Given the description of an element on the screen output the (x, y) to click on. 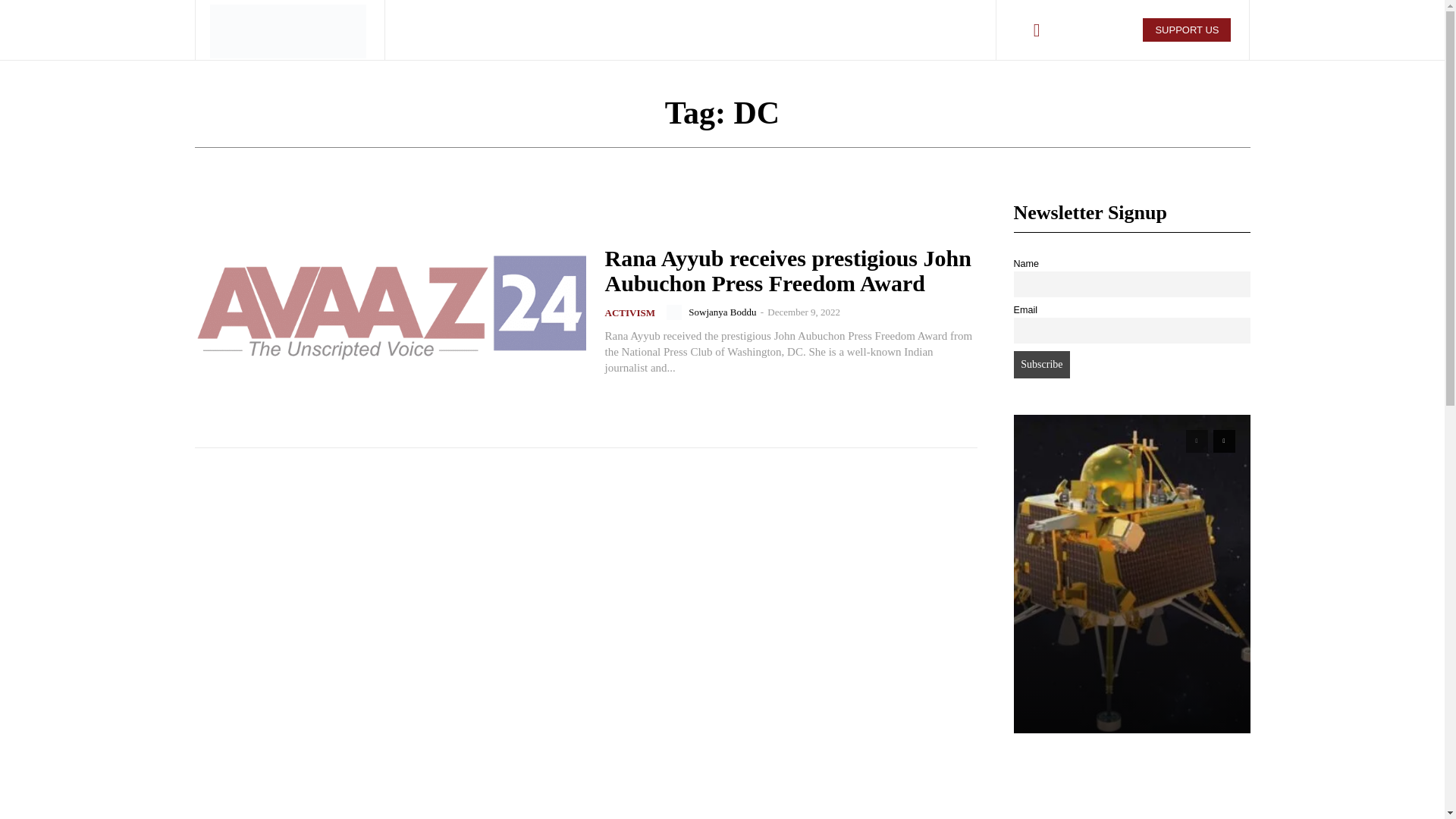
SUPPORT US (1186, 29)
Subscribe (1041, 364)
